Given the description of an element on the screen output the (x, y) to click on. 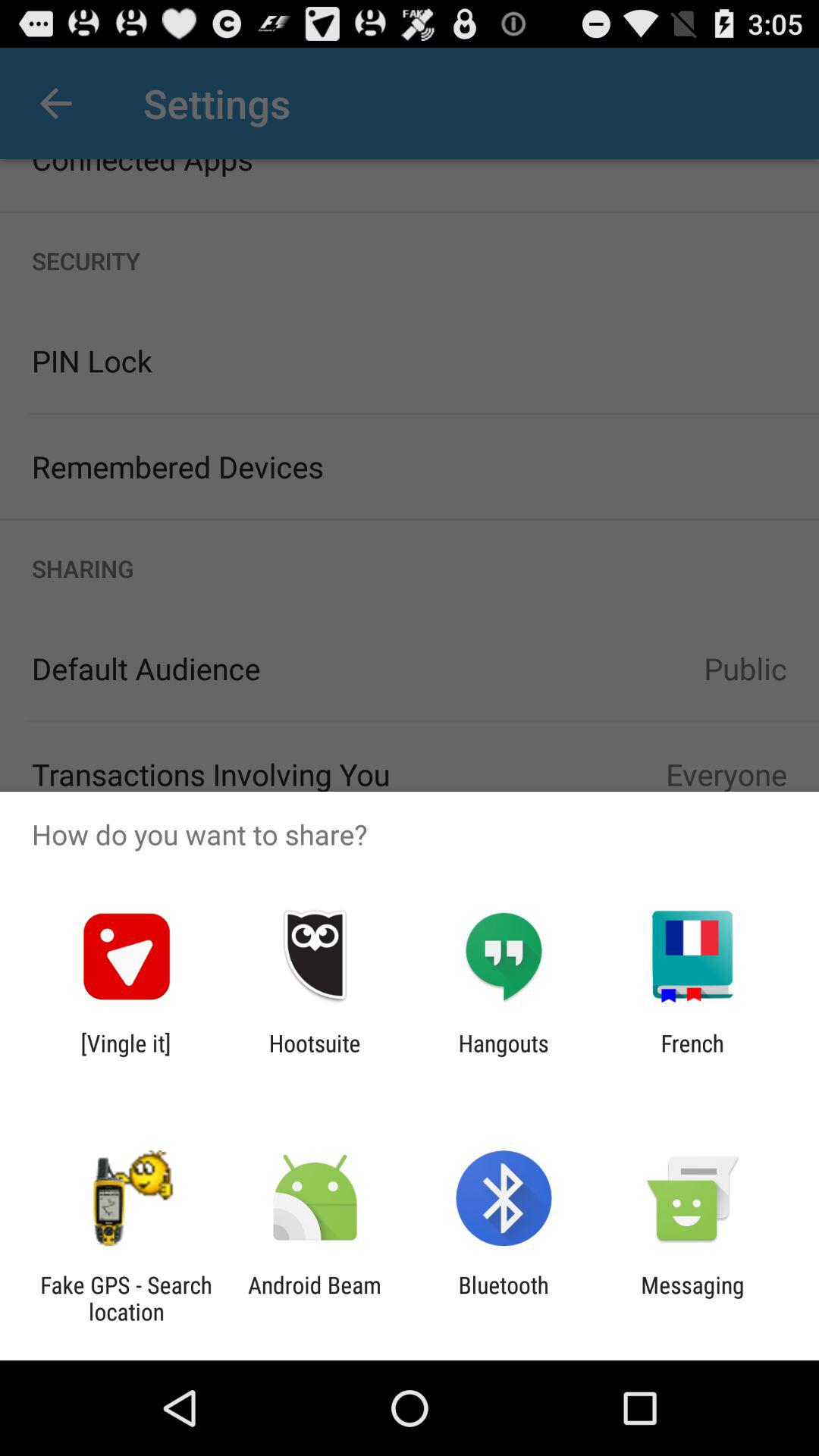
launch hootsuite (314, 1056)
